Given the description of an element on the screen output the (x, y) to click on. 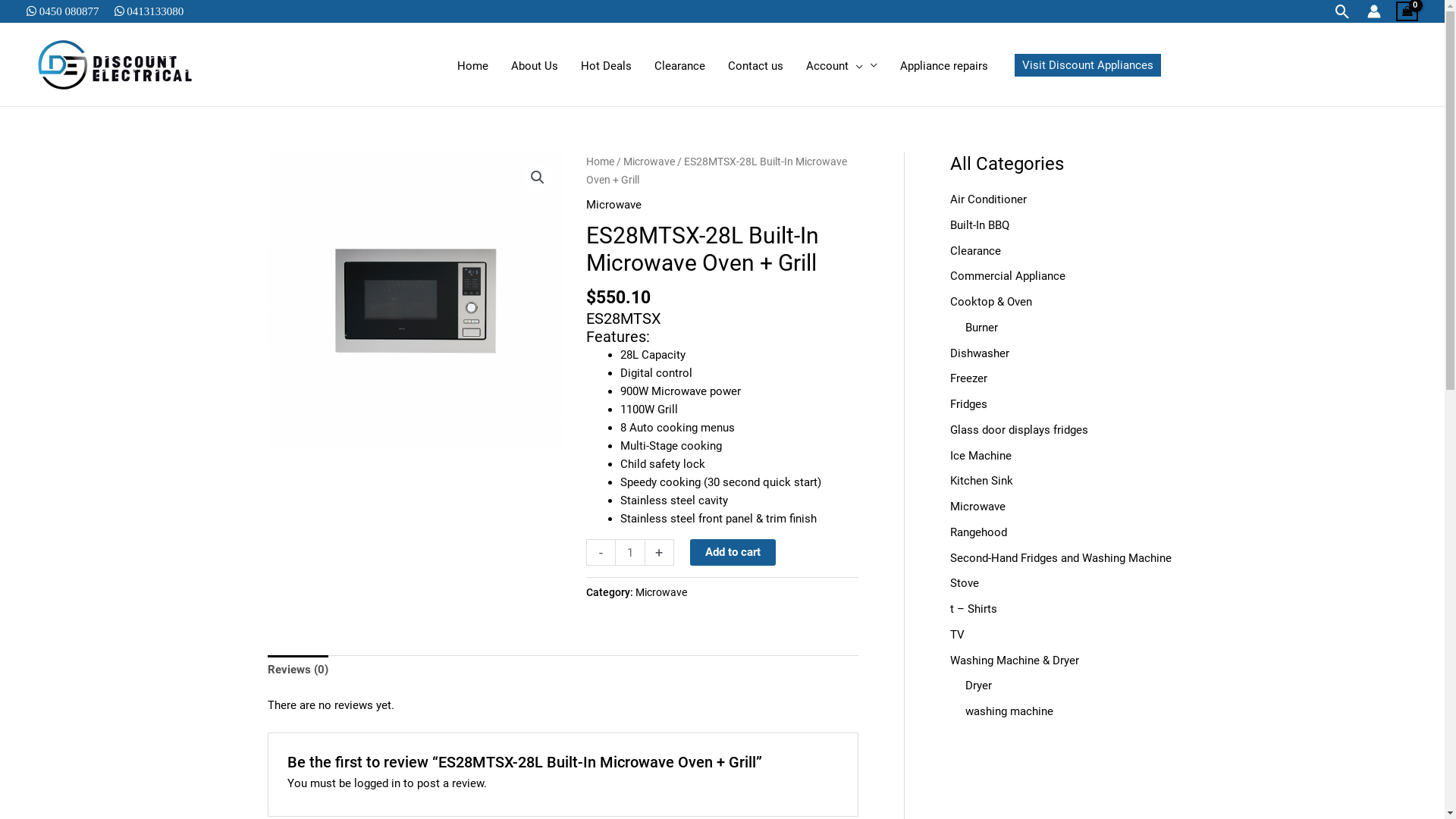
Air Conditioner Element type: text (987, 199)
Microwave Element type: text (976, 506)
logged in Element type: text (377, 783)
Fridges Element type: text (967, 404)
Cooktop & Oven Element type: text (990, 301)
Clearance Element type: text (974, 250)
Stove Element type: text (963, 582)
TV Element type: text (956, 634)
Clearance Element type: text (679, 65)
Add to cart Element type: text (732, 552)
0413133080 Element type: text (154, 10)
- Element type: text (600, 552)
Microwave Element type: text (613, 204)
Search Element type: text (1342, 10)
Dryer Element type: text (977, 685)
Freezer Element type: text (967, 378)
+ Element type: text (659, 552)
Microwave Element type: text (648, 161)
Appliance repairs Element type: text (943, 65)
Hot Deals Element type: text (605, 65)
Rangehood Element type: text (977, 532)
Reviews (0) Element type: text (296, 669)
Ice Machine Element type: text (979, 455)
Second-Hand Fridges and Washing Machine Element type: text (1059, 557)
Built-In BBQ Element type: text (978, 225)
Kitchen Sink Element type: text (980, 480)
Home Element type: text (472, 65)
About Us Element type: text (533, 65)
ES28MTSX-28L Built-In Microwave Oven + Grill 16 Element type: hover (414, 300)
washing machine Element type: text (1008, 711)
0450 080877 Element type: text (67, 10)
Home Element type: text (600, 161)
Contact us Element type: text (754, 65)
Commercial Appliance Element type: text (1006, 275)
Account Element type: text (841, 65)
Washing Machine & Dryer Element type: text (1013, 660)
Glass door displays fridges Element type: text (1018, 429)
Dishwasher Element type: text (978, 353)
Visit Discount Appliances Element type: text (1087, 64)
Microwave Element type: text (661, 592)
Burner Element type: text (980, 327)
